Given the description of an element on the screen output the (x, y) to click on. 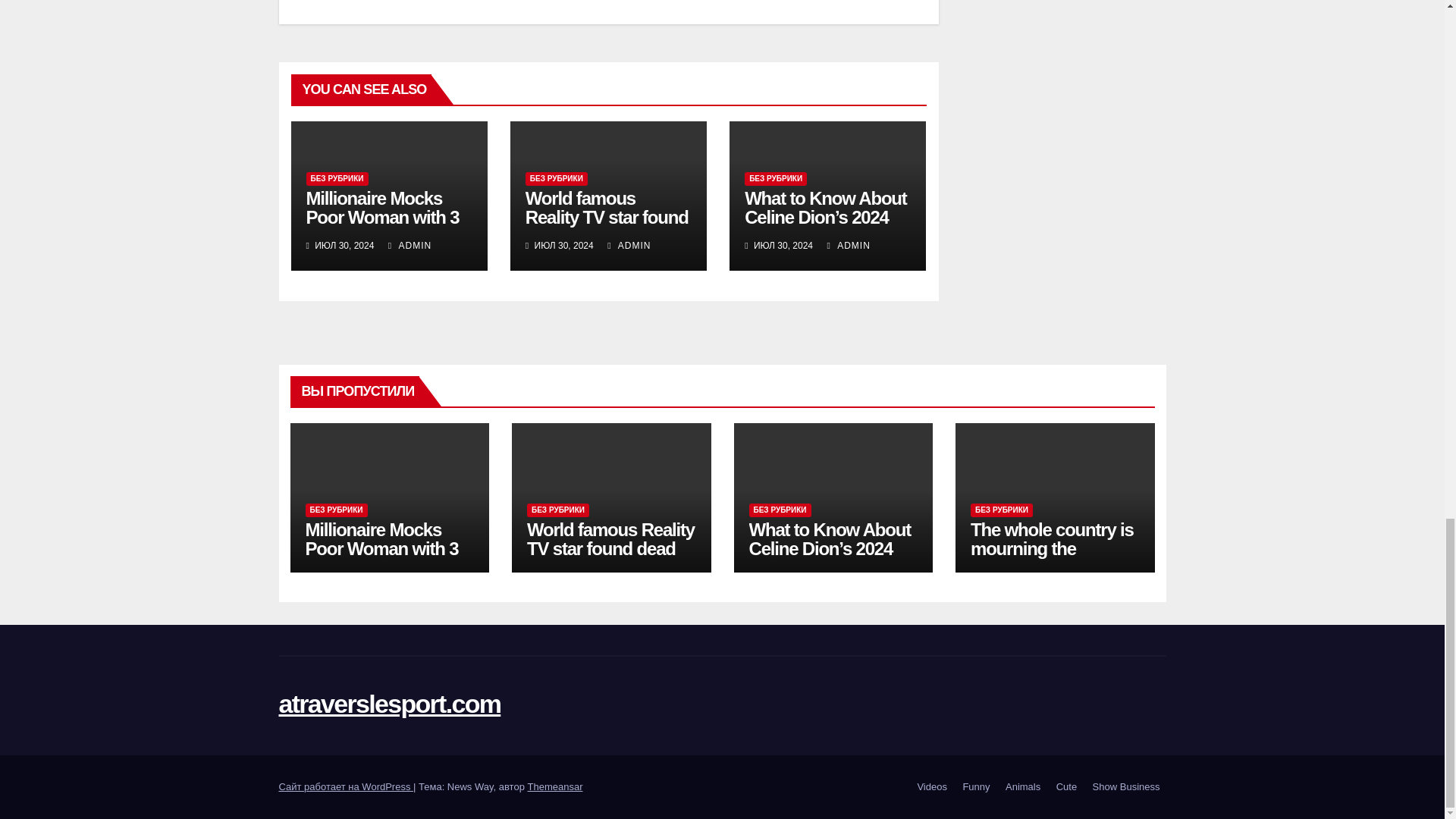
ADMIN (409, 245)
ADMIN (848, 245)
ADMIN (628, 245)
